Given the description of an element on the screen output the (x, y) to click on. 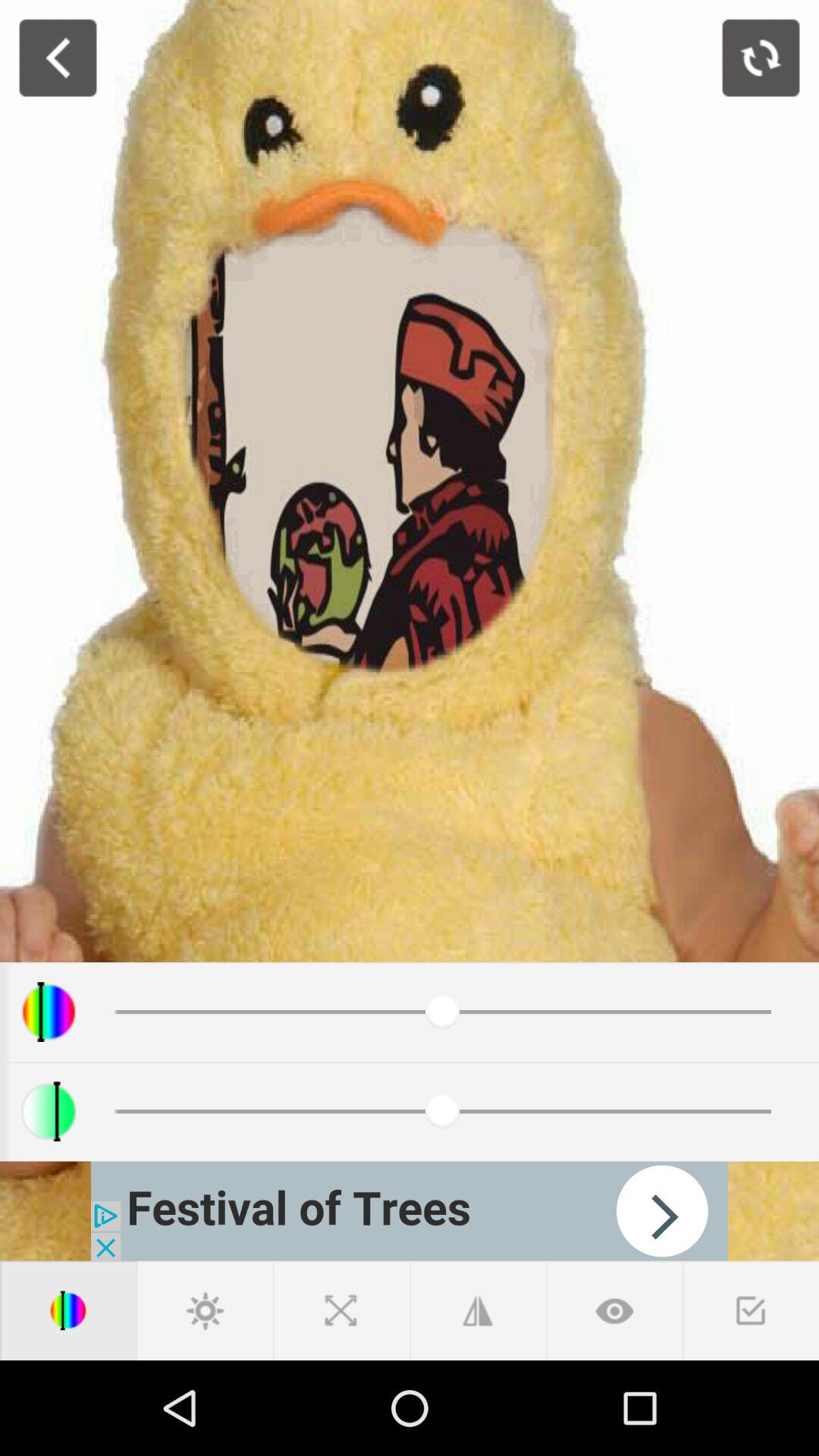
next page that in named (409, 1210)
